Given the description of an element on the screen output the (x, y) to click on. 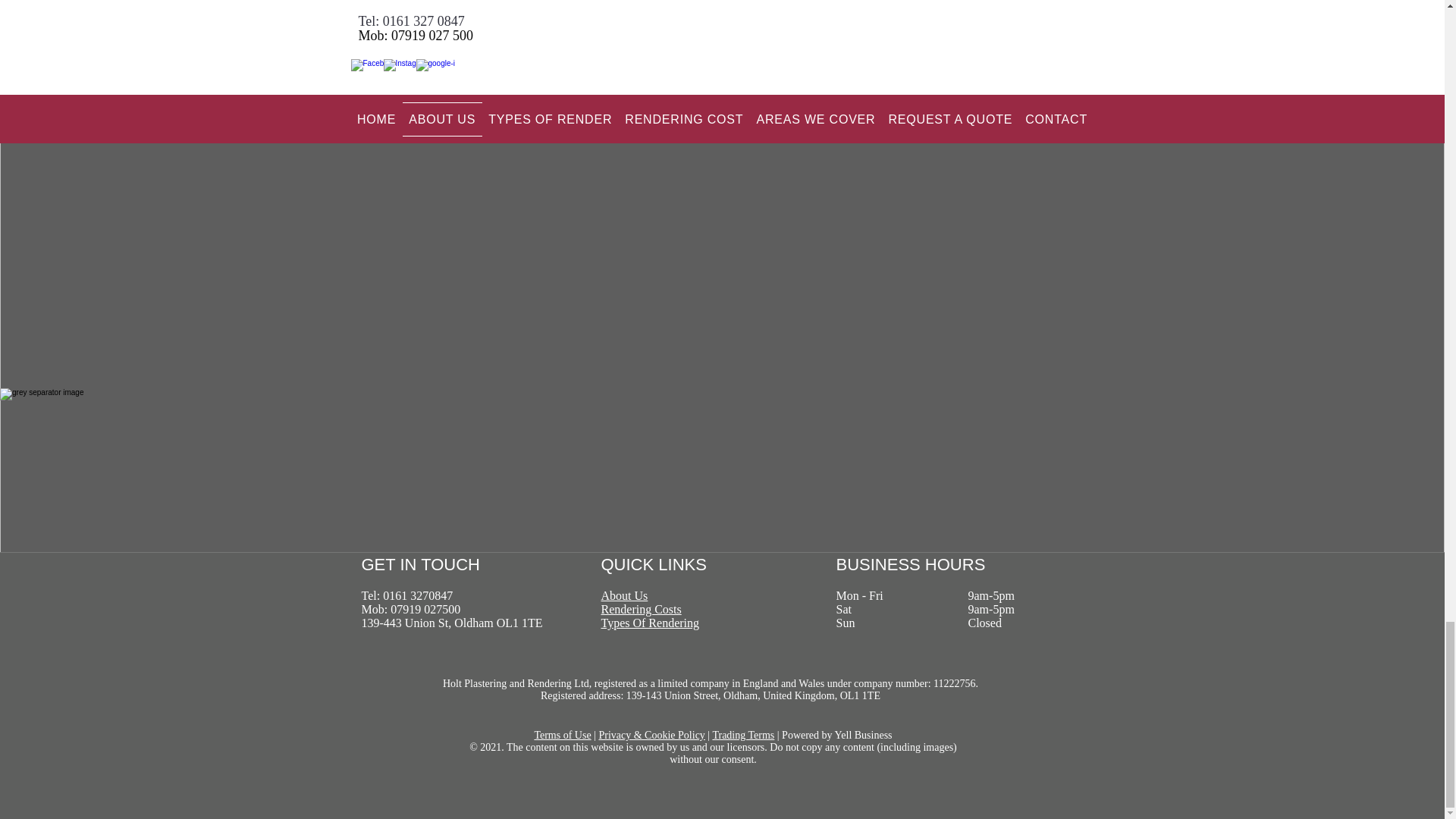
0161 3270847 (417, 594)
Rendering Costs (640, 608)
About Us (623, 594)
Terms of Use (562, 735)
Trading Terms (742, 735)
07919 027500 (425, 608)
Types Of Rendering (648, 622)
